Given the description of an element on the screen output the (x, y) to click on. 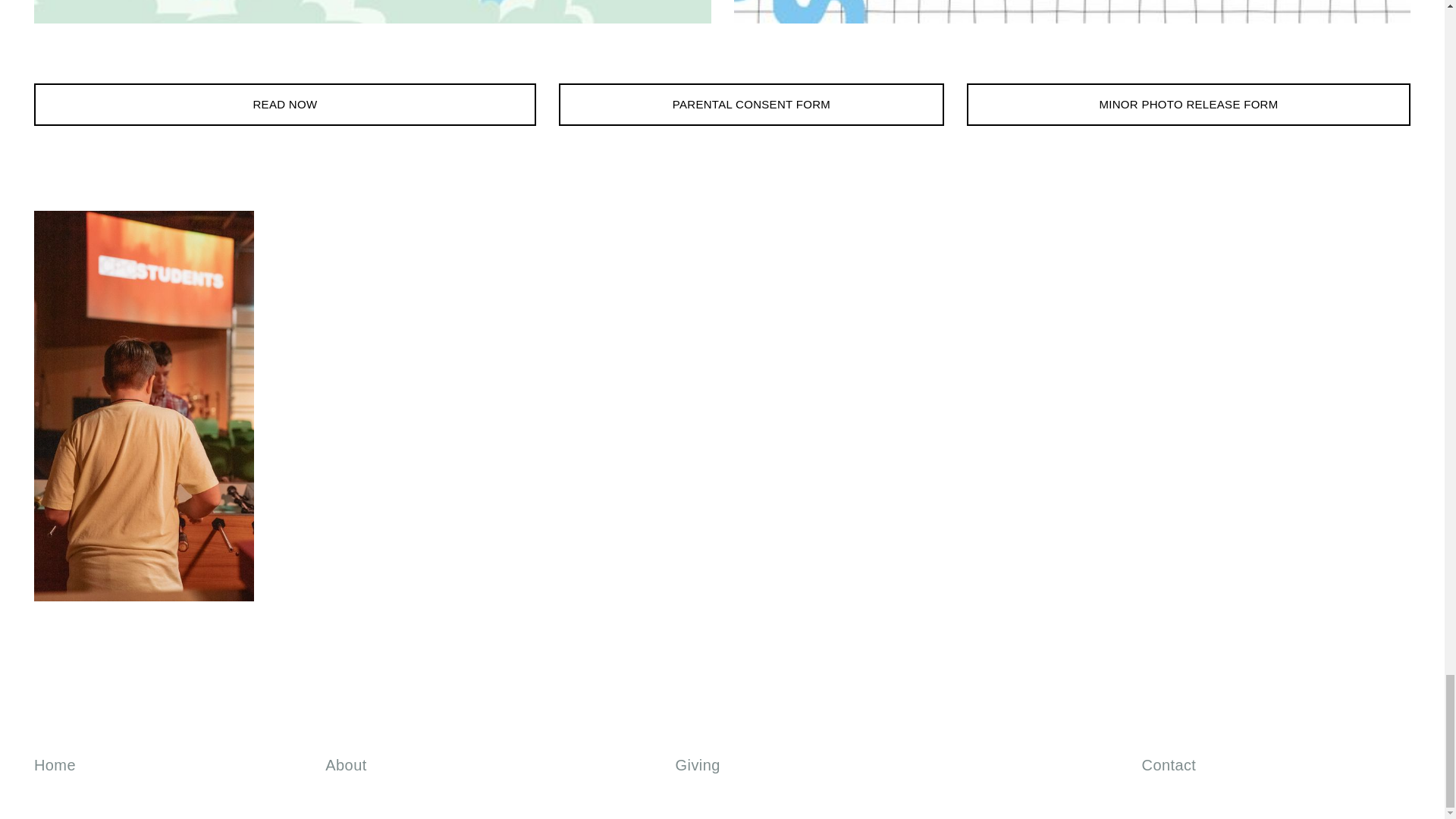
Giving (697, 764)
Home (54, 764)
Contact (1168, 764)
PARENTAL CONSENT FORM (751, 104)
READ NOW (284, 104)
MINOR PHOTO RELEASE FORM (1188, 104)
About (345, 764)
